Given the description of an element on the screen output the (x, y) to click on. 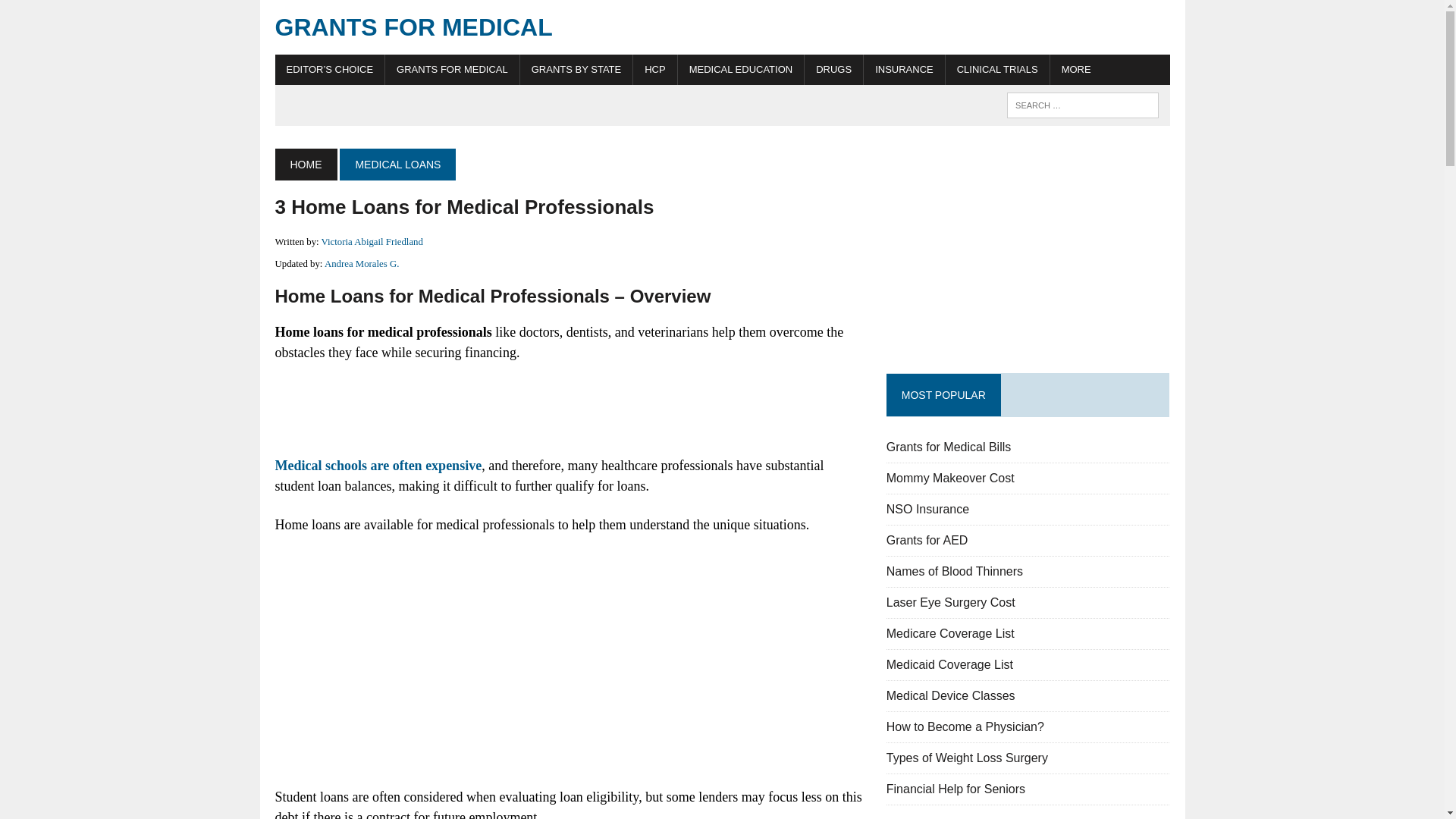
Andrea Morales G. (361, 263)
GRANTS FOR MEDICAL (722, 27)
Grants for Medical (722, 27)
Explore our medical (1075, 69)
Victoria Abigail Friedland (372, 241)
